Given the description of an element on the screen output the (x, y) to click on. 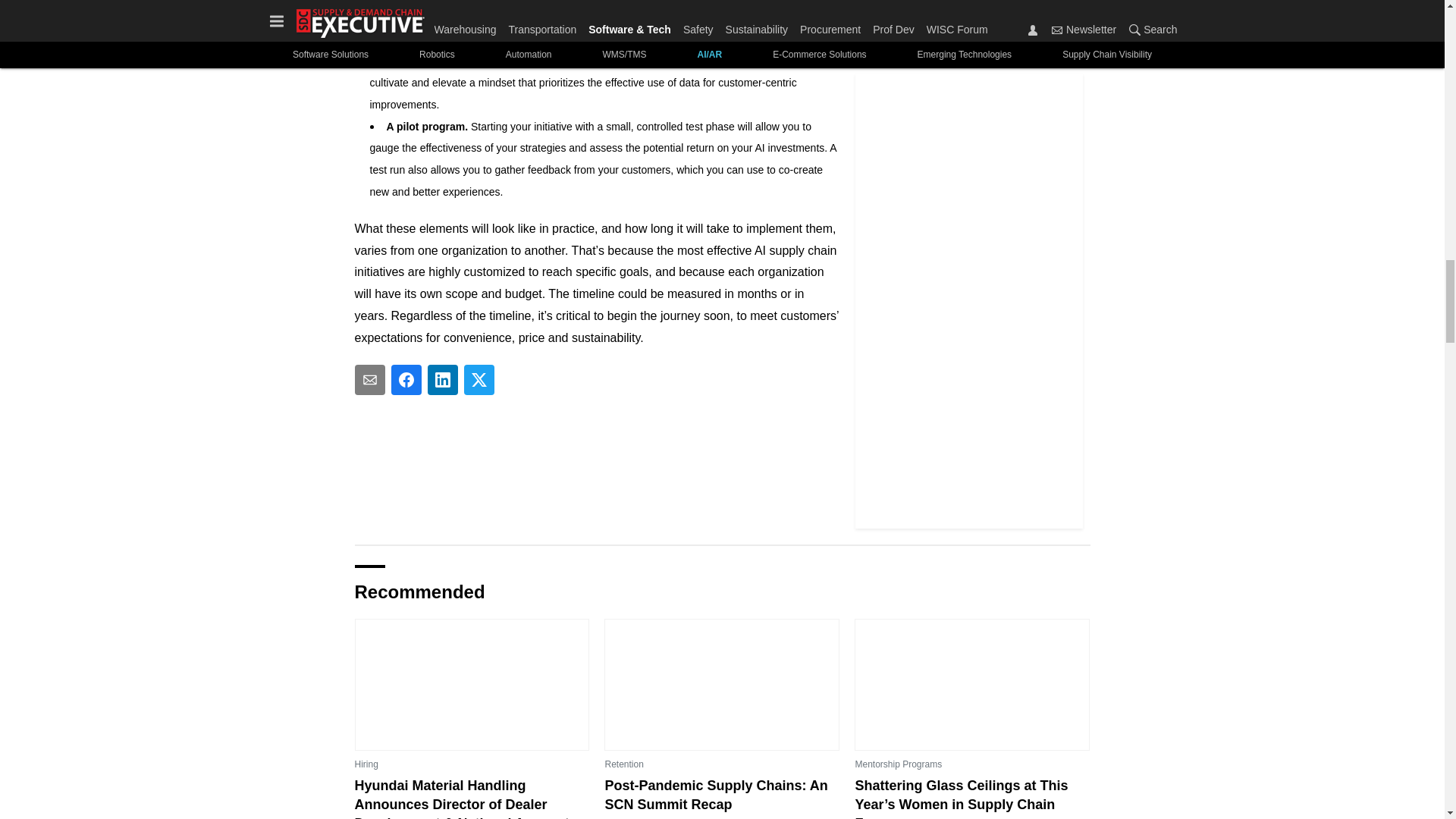
Share To facebook (406, 378)
Share To email (370, 378)
Interaction questions (597, 466)
Share To linkedin (443, 378)
Share To twitter (479, 378)
